Given the description of an element on the screen output the (x, y) to click on. 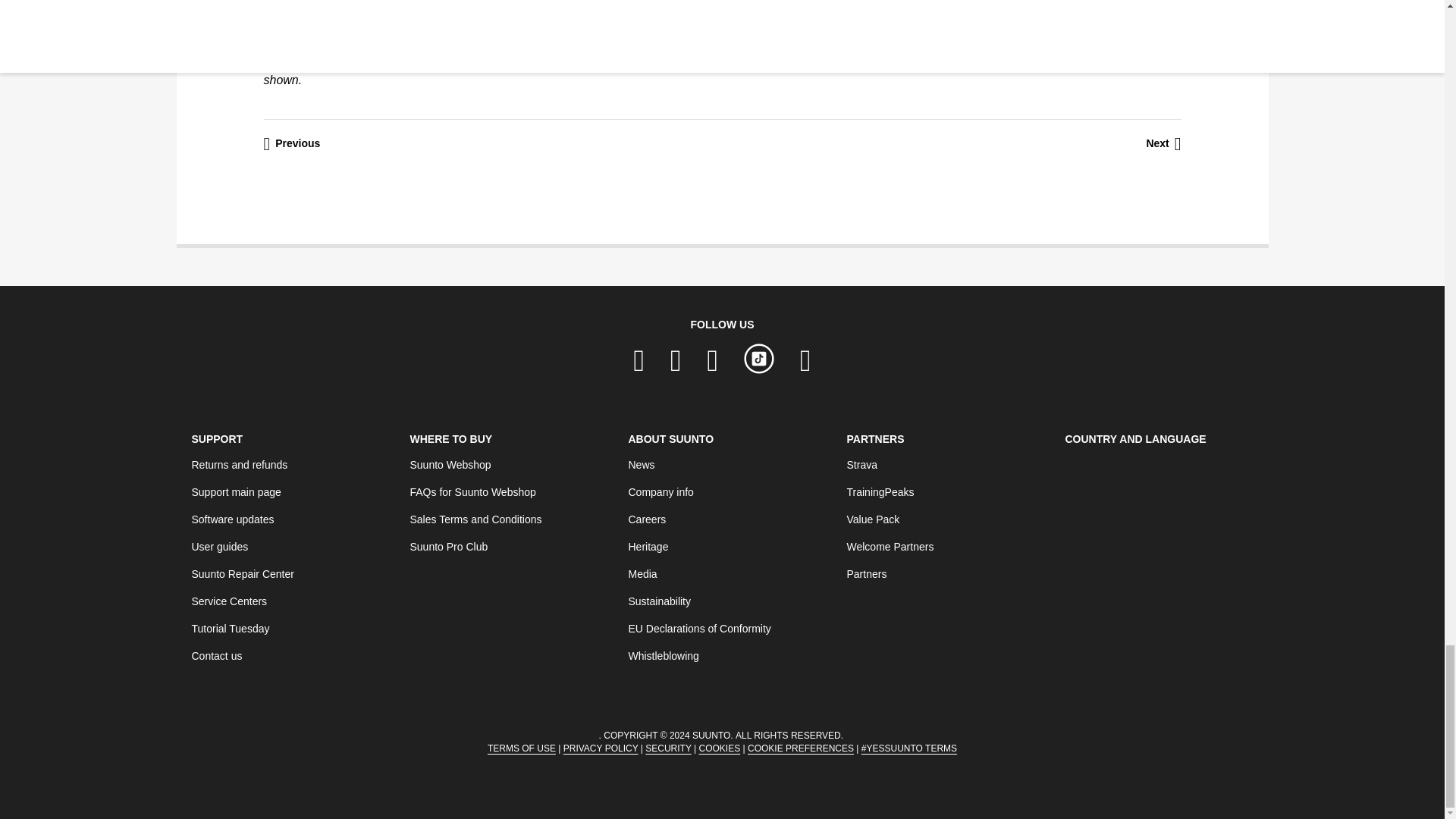
Suunto Webshop (449, 464)
Company info (660, 491)
News (640, 464)
Returns and refunds (238, 464)
Careers (646, 519)
Service Centers (228, 601)
Suunto Pro Club (448, 546)
User guides (218, 546)
Next (1162, 144)
Contact us (215, 655)
Software updates (231, 519)
Sustainability (658, 601)
Sales Terms and Conditions (475, 519)
Previous (291, 144)
Heritage (647, 546)
